Given the description of an element on the screen output the (x, y) to click on. 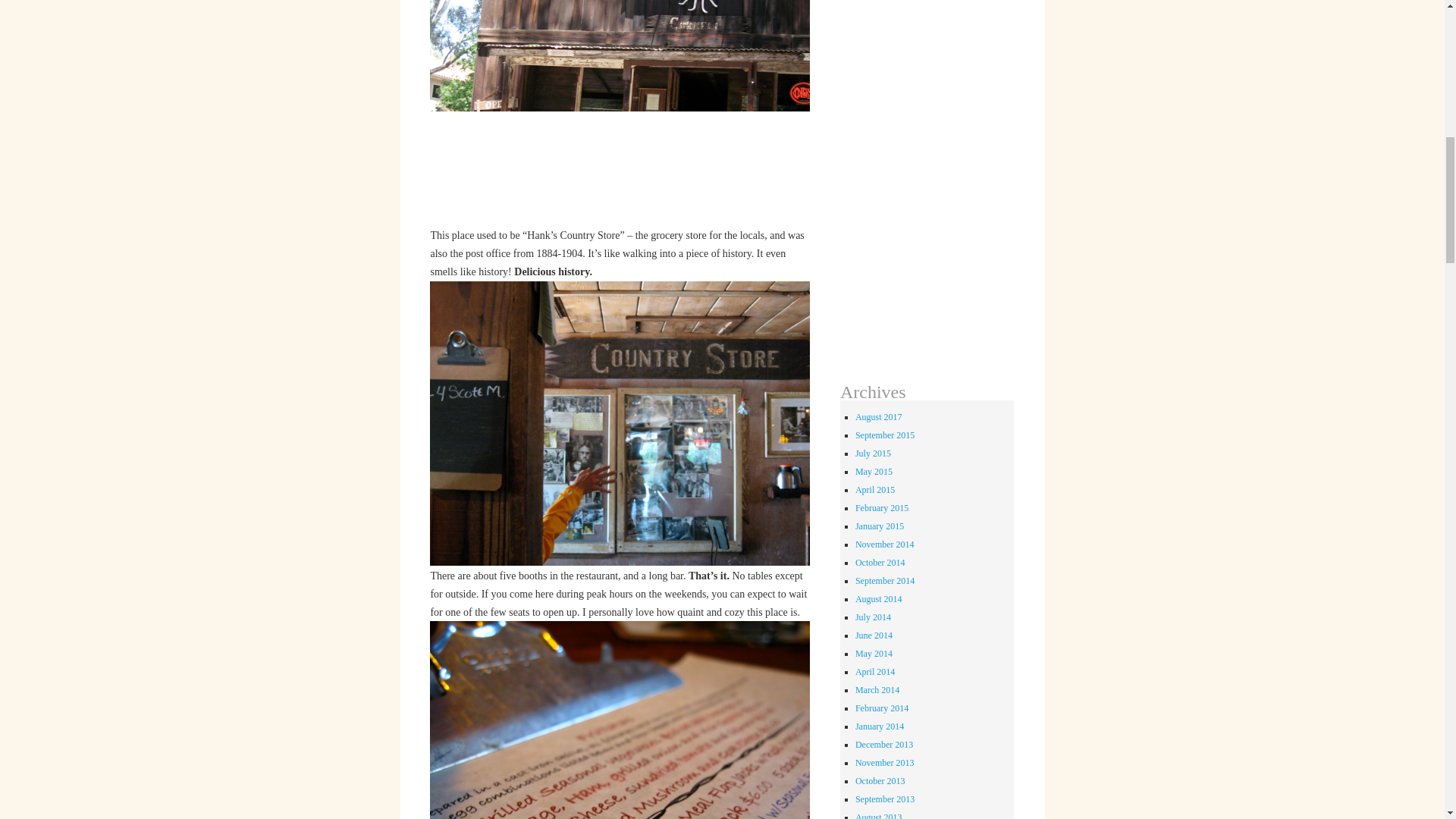
AM6 (619, 719)
AM4 (619, 423)
AM2 (619, 112)
